Given the description of an element on the screen output the (x, y) to click on. 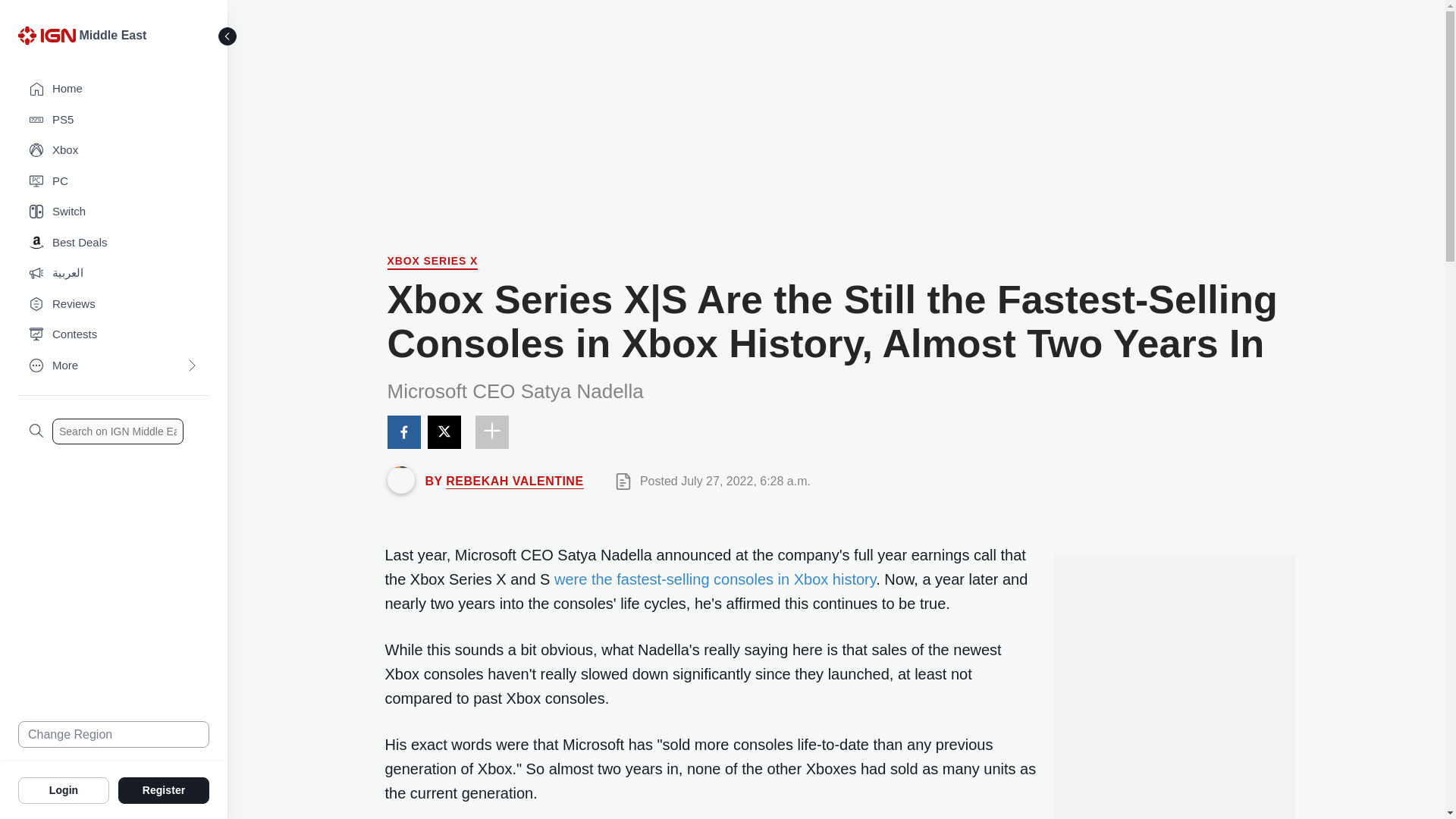
Reviews (113, 304)
Toggle Sidebar (226, 36)
Xbox Series X (432, 262)
Register (163, 789)
PS5 (113, 119)
Xbox (113, 150)
IGN Logo (48, 39)
XBOX SERIES X (432, 262)
More (113, 365)
Login (63, 789)
